Given the description of an element on the screen output the (x, y) to click on. 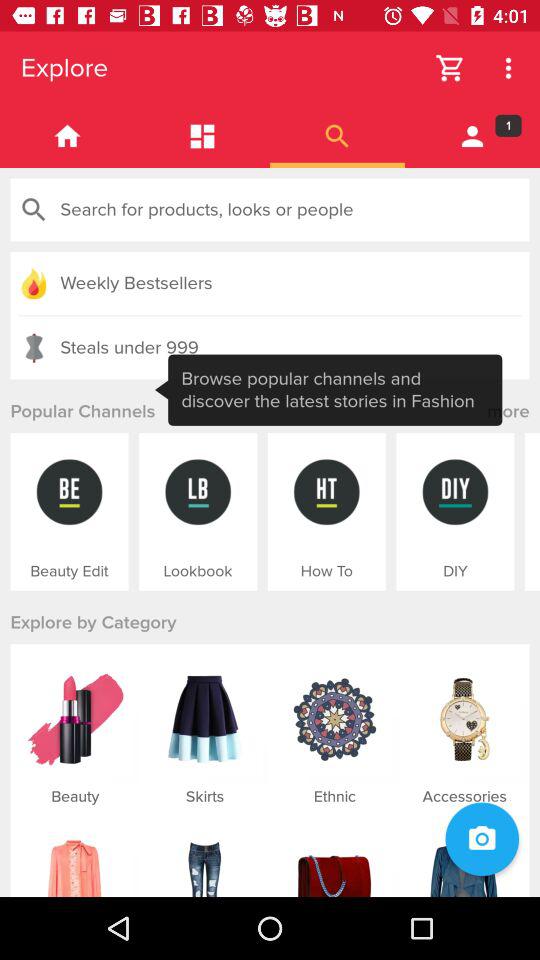
search products looks or people (269, 209)
